Given the description of an element on the screen output the (x, y) to click on. 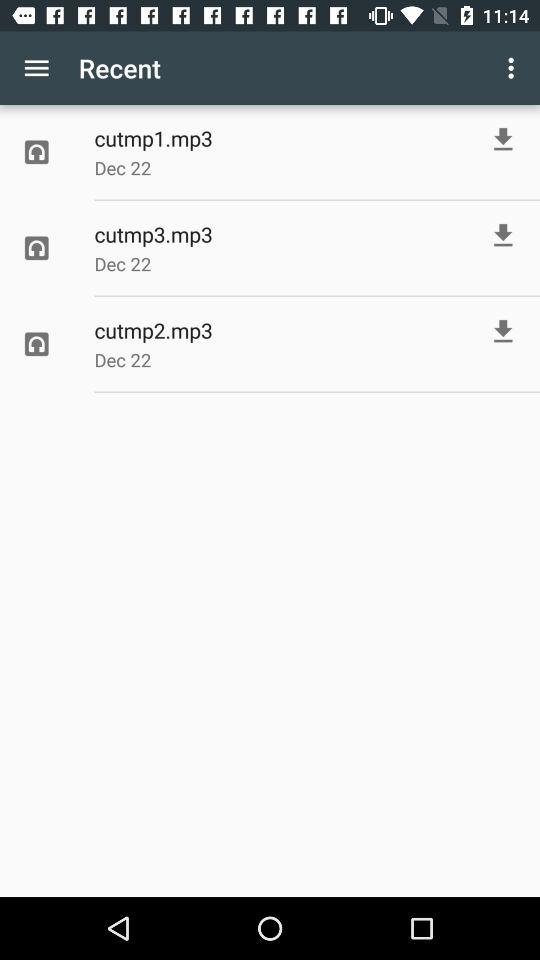
turn on the app to the left of recent icon (36, 68)
